Given the description of an element on the screen output the (x, y) to click on. 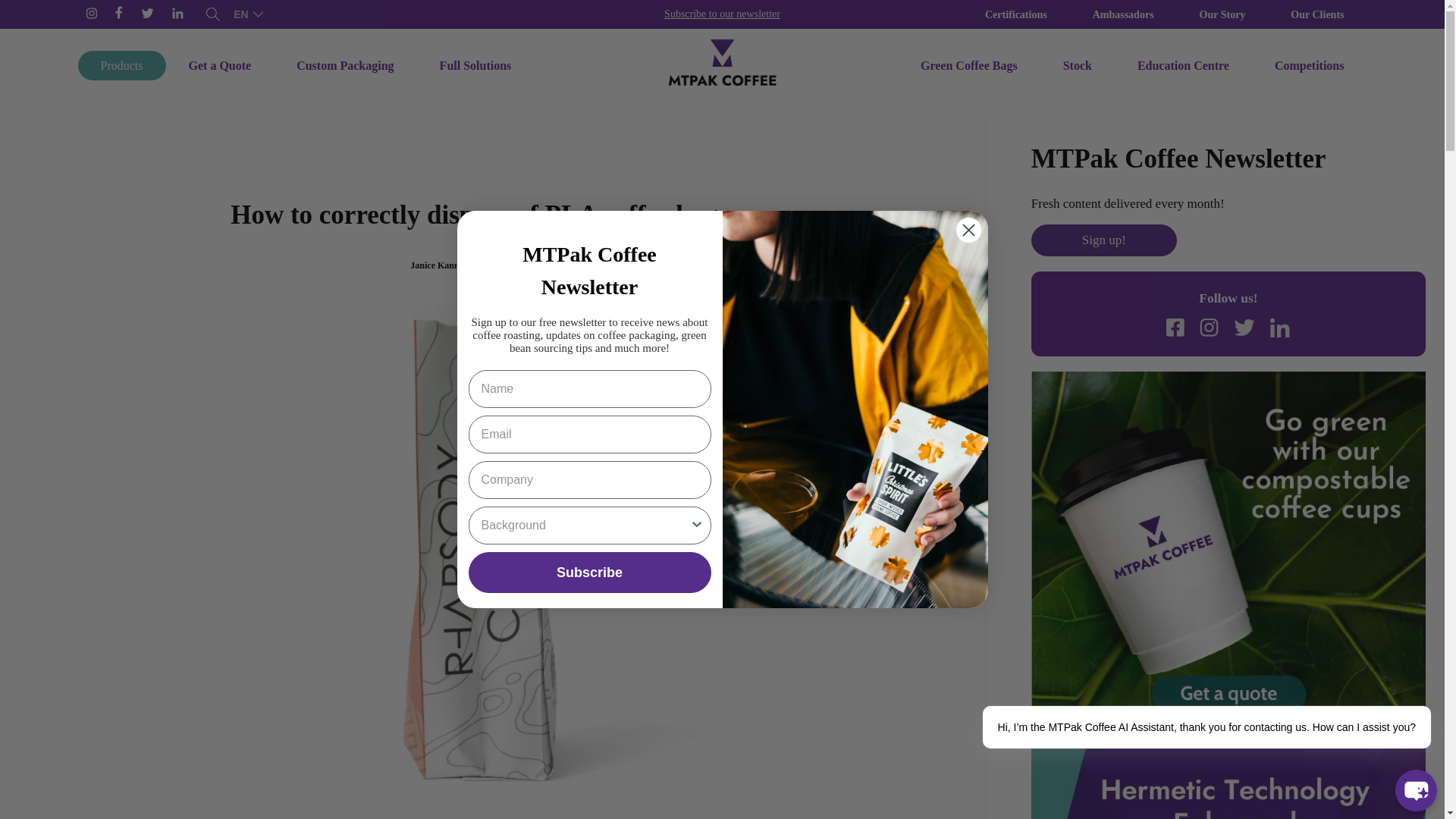
Ambassadors (1123, 14)
Close dialog 1 (968, 230)
Subscribe to our newsletter (721, 14)
Stock (1078, 65)
Our Story (1222, 14)
Our Clients (1317, 14)
Products (121, 65)
Competitions (1309, 65)
Education Centre (1183, 65)
Full Solutions (475, 65)
Custom Packaging (344, 65)
Get a Quote (219, 65)
Green Coffee Bags (969, 65)
Certifications (1016, 14)
